Given the description of an element on the screen output the (x, y) to click on. 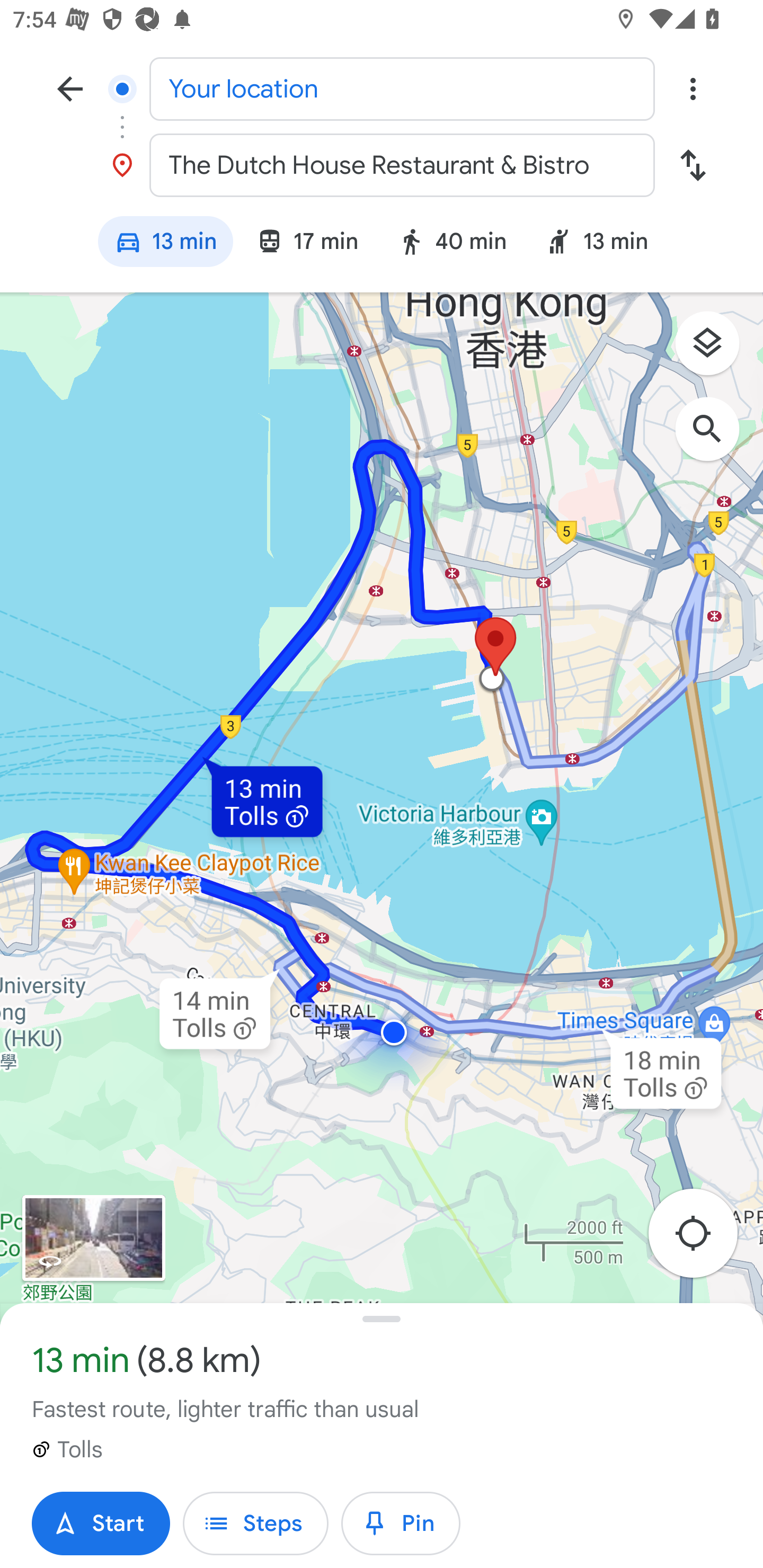
Navigate up (70, 88)
Your location Start location, Your location (381, 88)
Overflow menu (692, 88)
Swap start and destination (692, 165)
Transit mode: 17 min 17 min (306, 244)
Walking mode: 40 min 40 min (451, 244)
Ride service: 13 min 13 min (604, 244)
Layers (716, 349)
Search along route (716, 438)
Re-center map to your location (702, 1238)
Steps Steps Steps (255, 1522)
Pin trip Pin Pin trip (400, 1522)
